Given the description of an element on the screen output the (x, y) to click on. 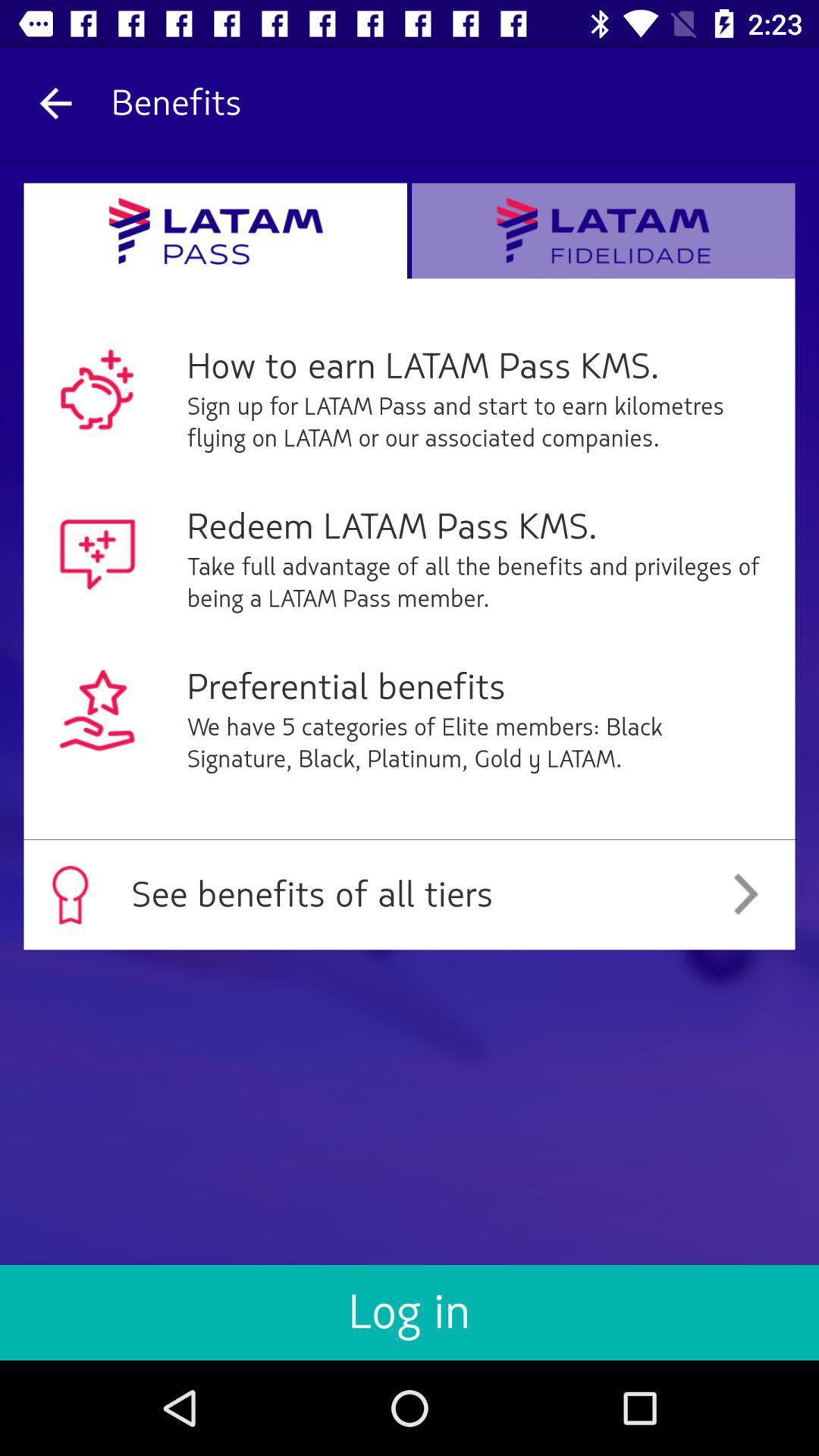
select the symbol which is right hand side of the text see benifits of all tiers (745, 894)
select text along with logo beside latam pass (603, 231)
